Given the description of an element on the screen output the (x, y) to click on. 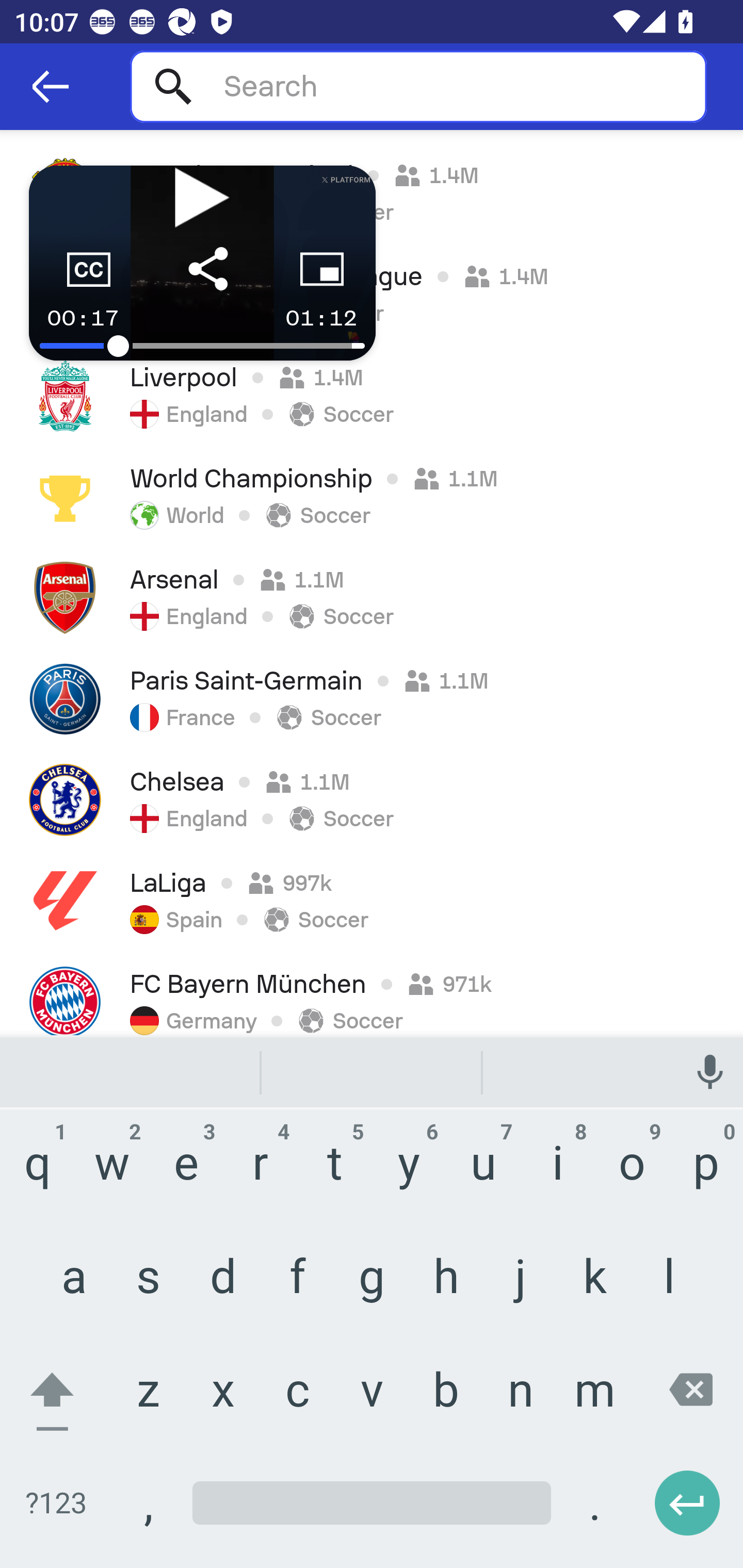
Navigate up (50, 86)
Search (418, 86)
Liverpool 1.4M England Soccer (371, 395)
World Championship 1.1M World Soccer (371, 496)
Arsenal 1.1M England Soccer (371, 597)
Paris Saint-Germain 1.1M France Soccer (371, 698)
Chelsea 1.1M England Soccer (371, 799)
LaLiga 997k Spain Soccer (371, 900)
FC Bayern München 971k Germany Soccer (371, 992)
